Given the description of an element on the screen output the (x, y) to click on. 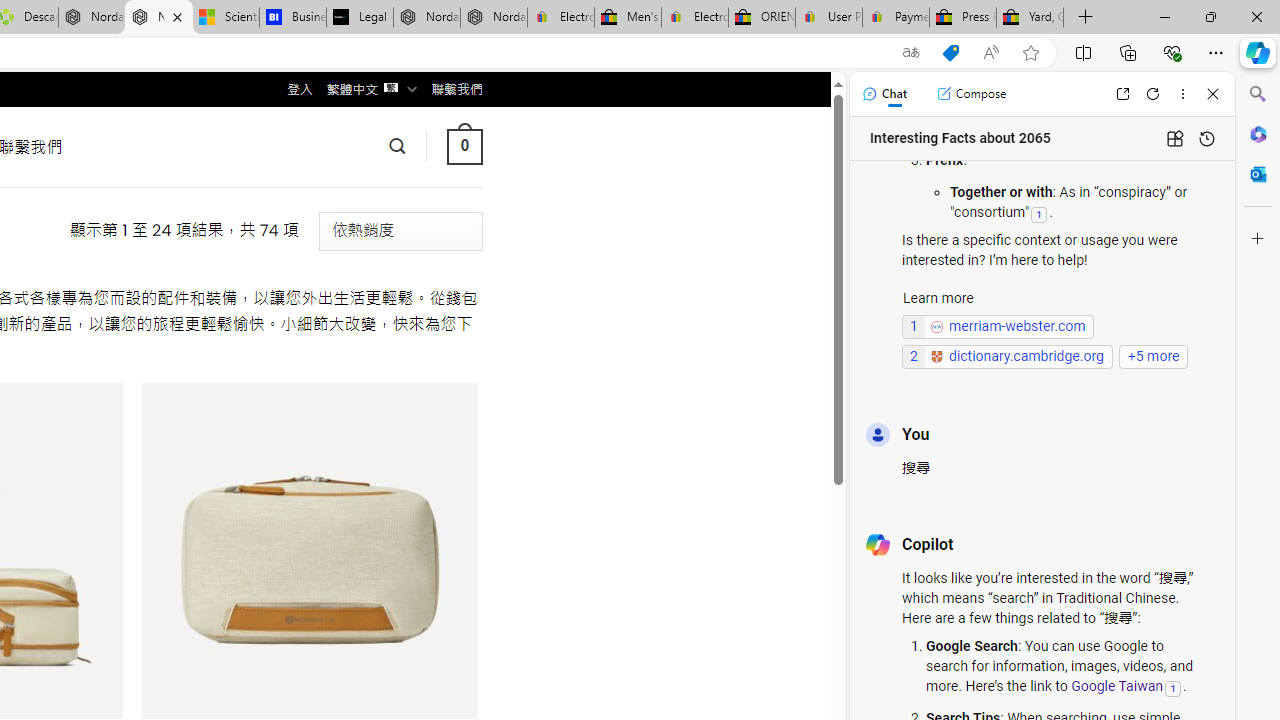
Payments Terms of Use | eBay.com (895, 17)
Show translate options (910, 53)
This site has coupons! Shopping in Microsoft Edge (950, 53)
Compose (971, 93)
Nordace - Summer Adventures 2024 (91, 17)
Yard, Garden & Outdoor Living (1030, 17)
